Given the description of an element on the screen output the (x, y) to click on. 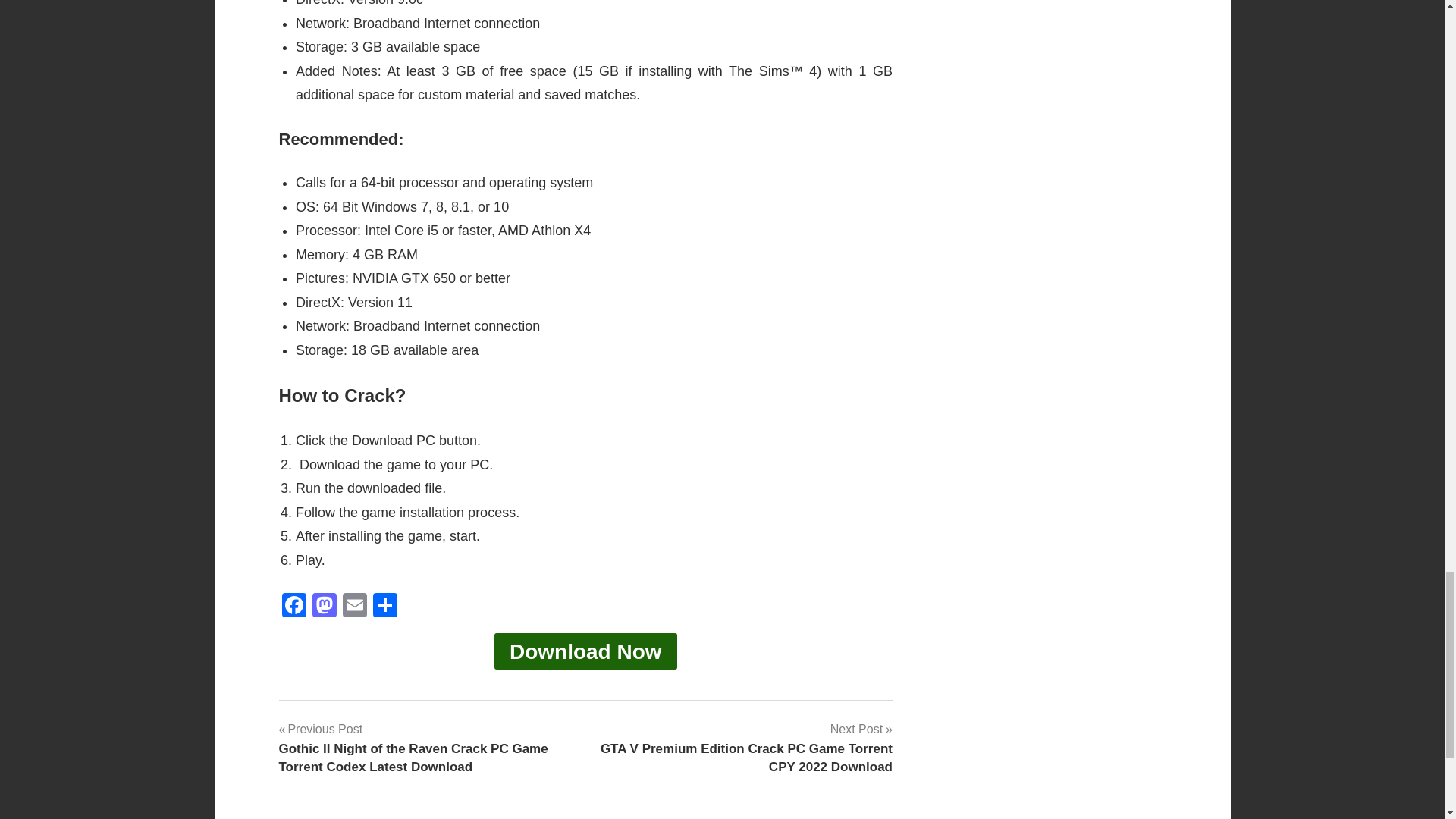
Download Now (586, 651)
Mastodon (323, 606)
Email (354, 606)
Facebook (293, 606)
Share (384, 606)
Email (354, 606)
Mastodon (323, 606)
Facebook (293, 606)
